Given the description of an element on the screen output the (x, y) to click on. 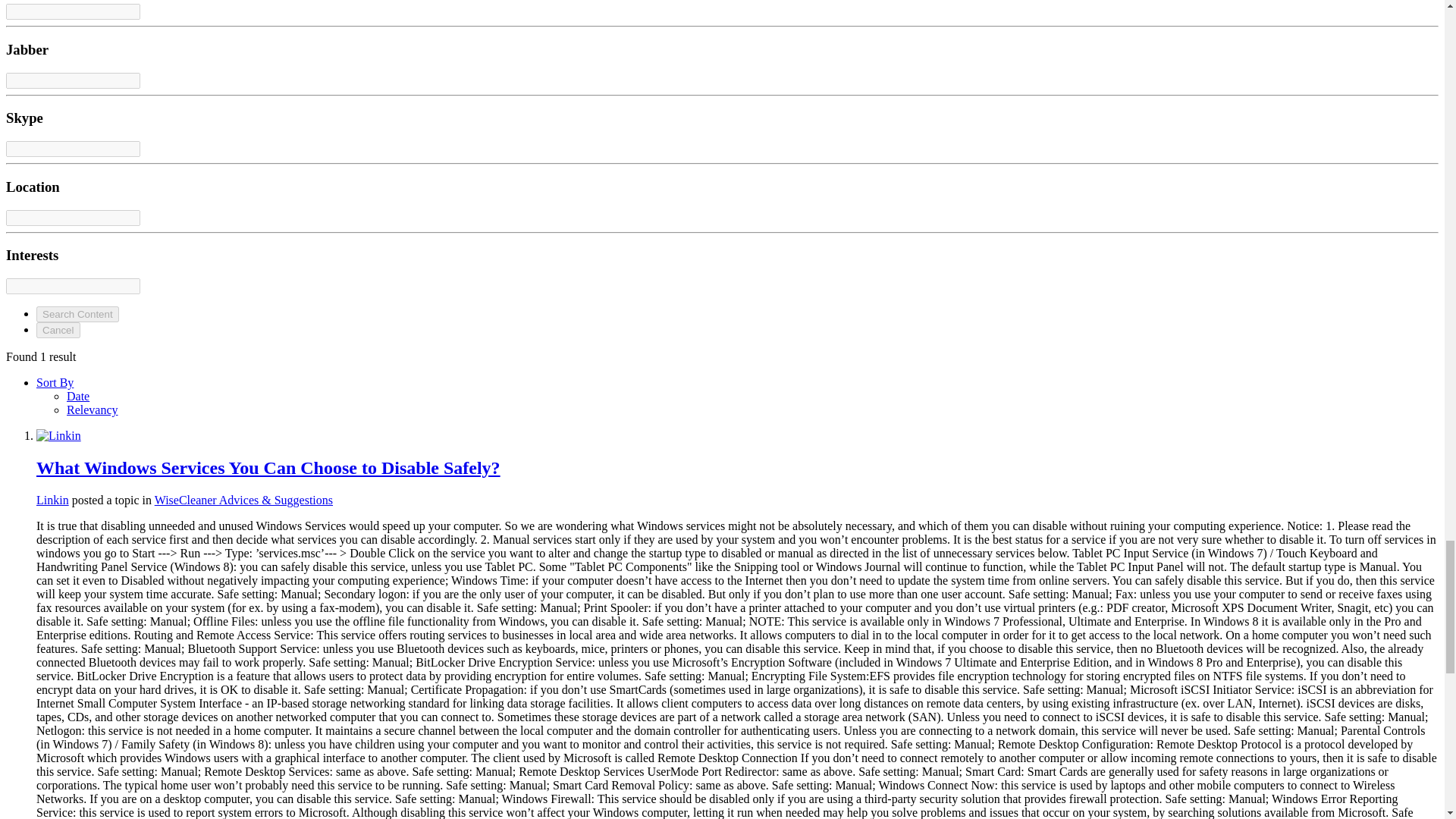
Go to Linkin's profile (52, 499)
Go to Linkin's profile (58, 435)
